Given the description of an element on the screen output the (x, y) to click on. 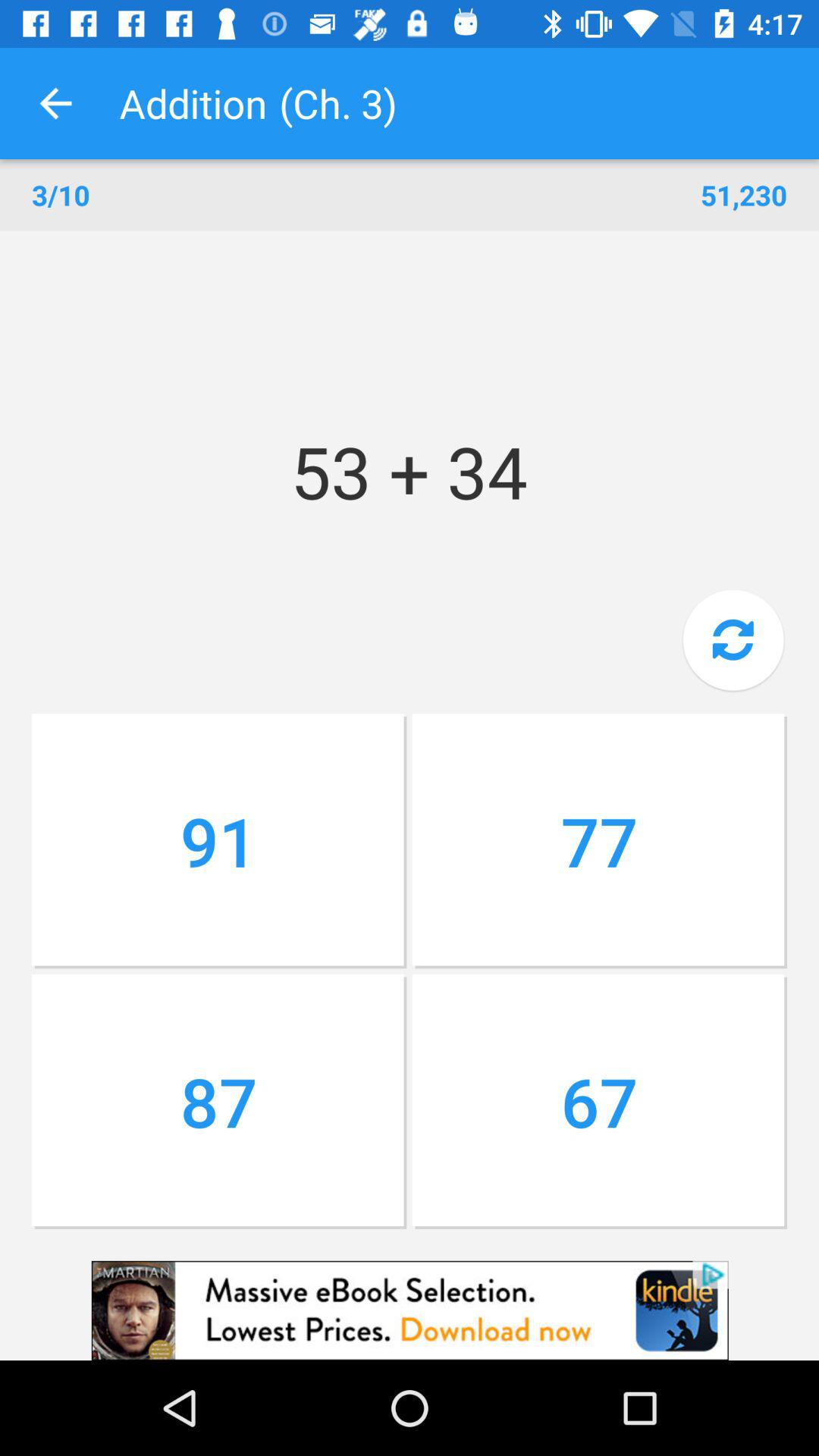
advertisement page (409, 1310)
